Given the description of an element on the screen output the (x, y) to click on. 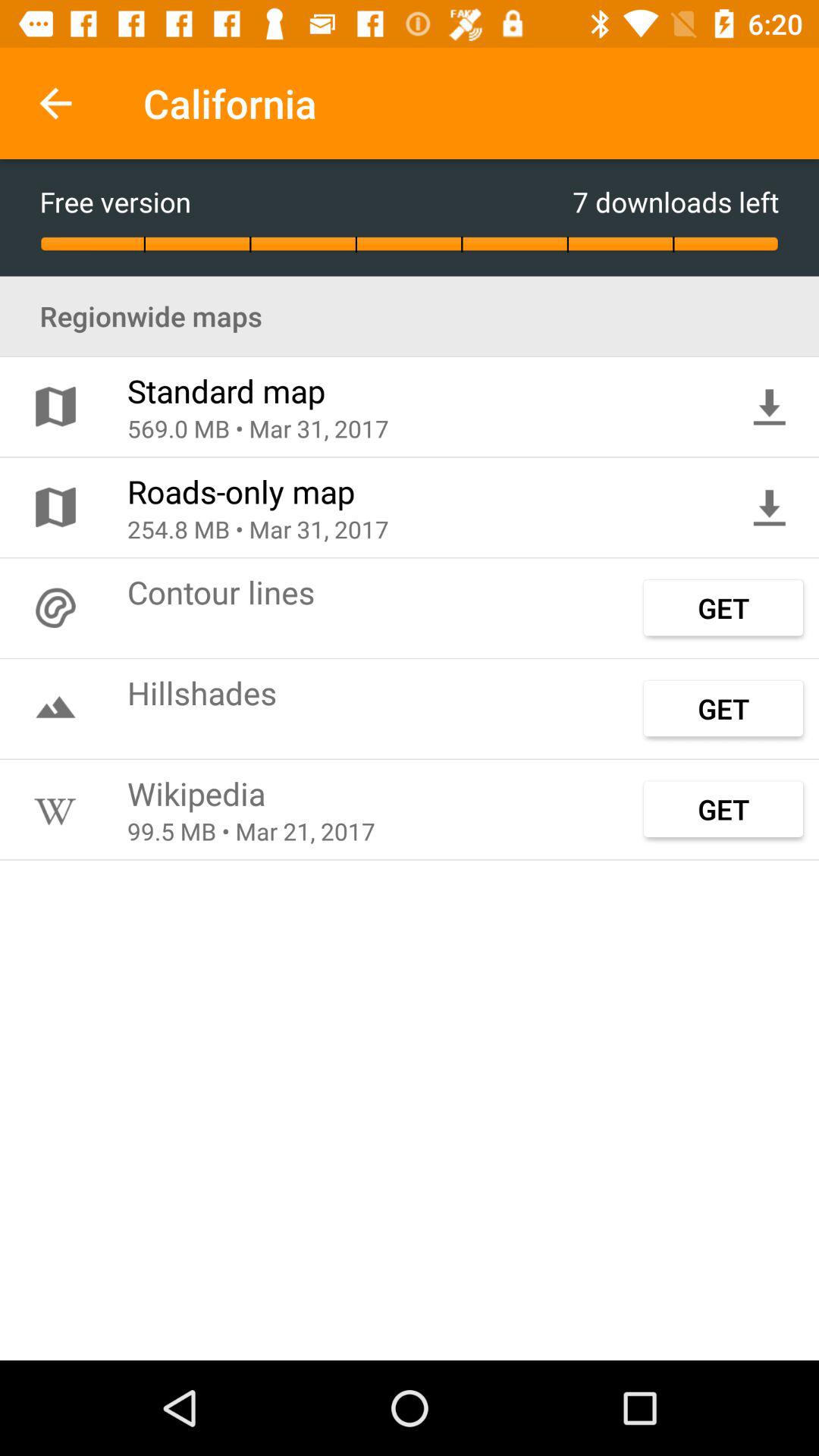
choose the app to the left of california app (55, 103)
